Given the description of an element on the screen output the (x, y) to click on. 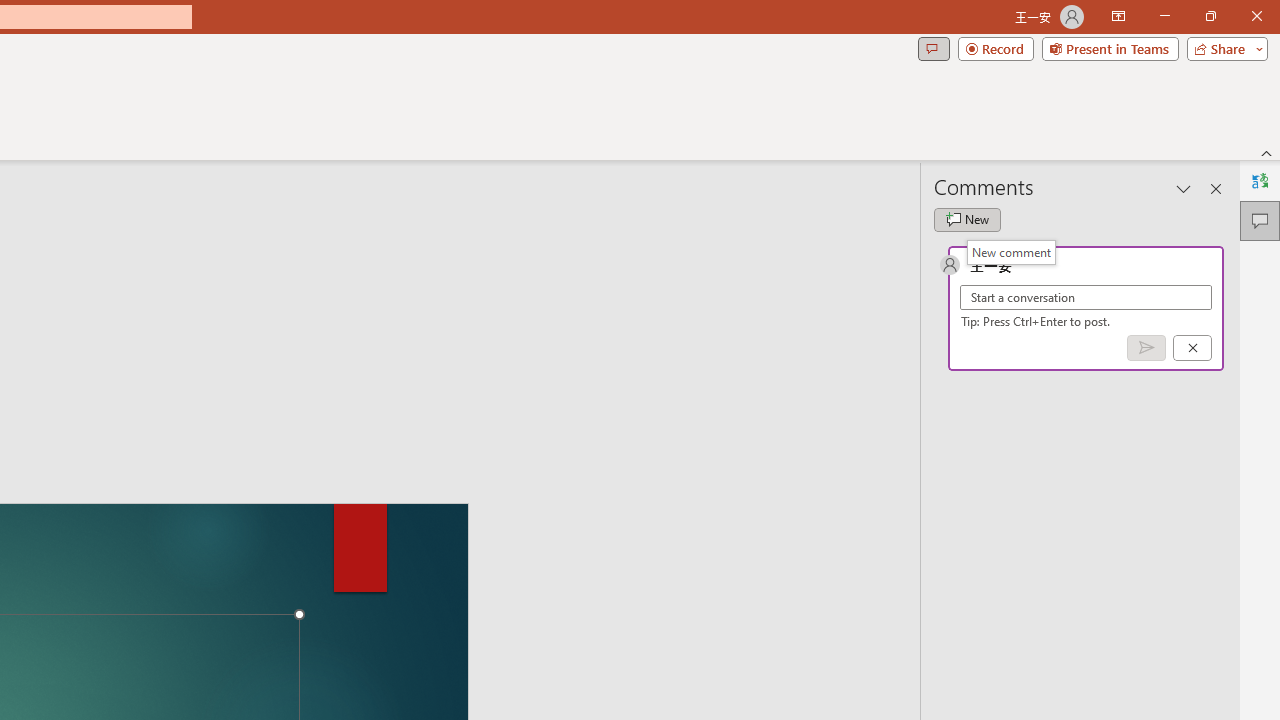
New comment (1011, 251)
